Given the description of an element on the screen output the (x, y) to click on. 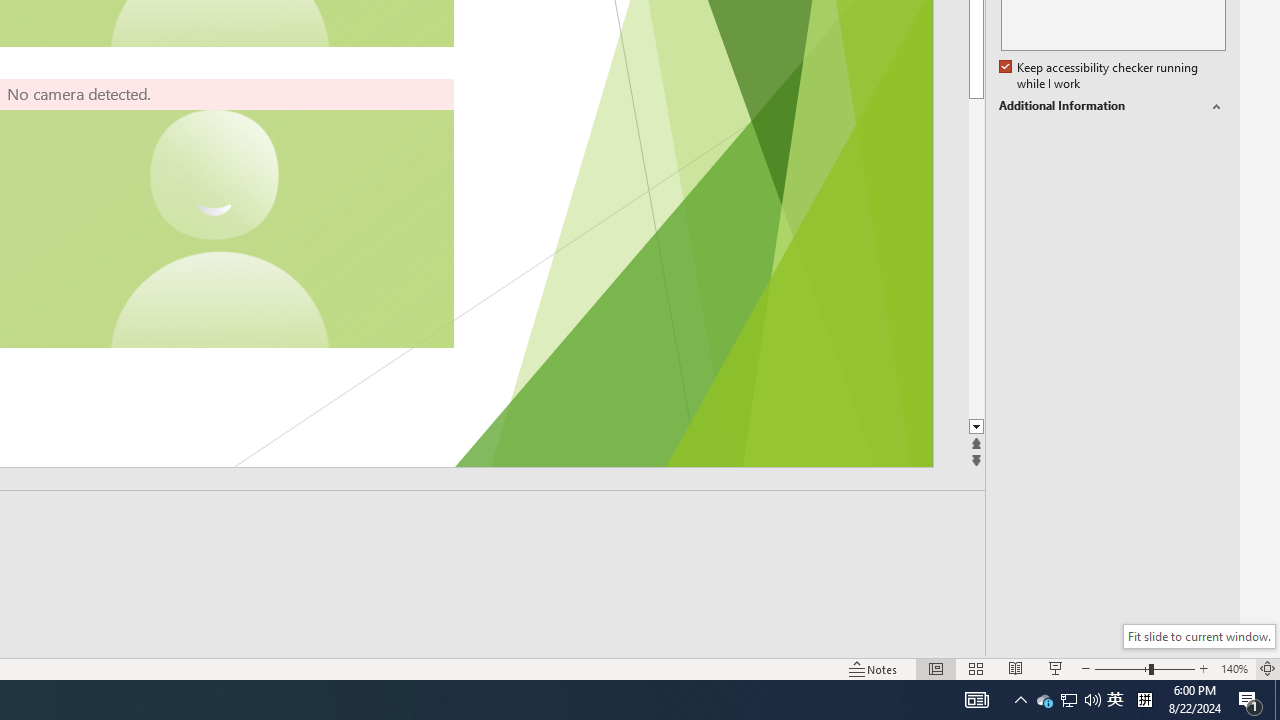
Zoom 140% (1234, 668)
Fit slide to current window. (1199, 636)
